Given the description of an element on the screen output the (x, y) to click on. 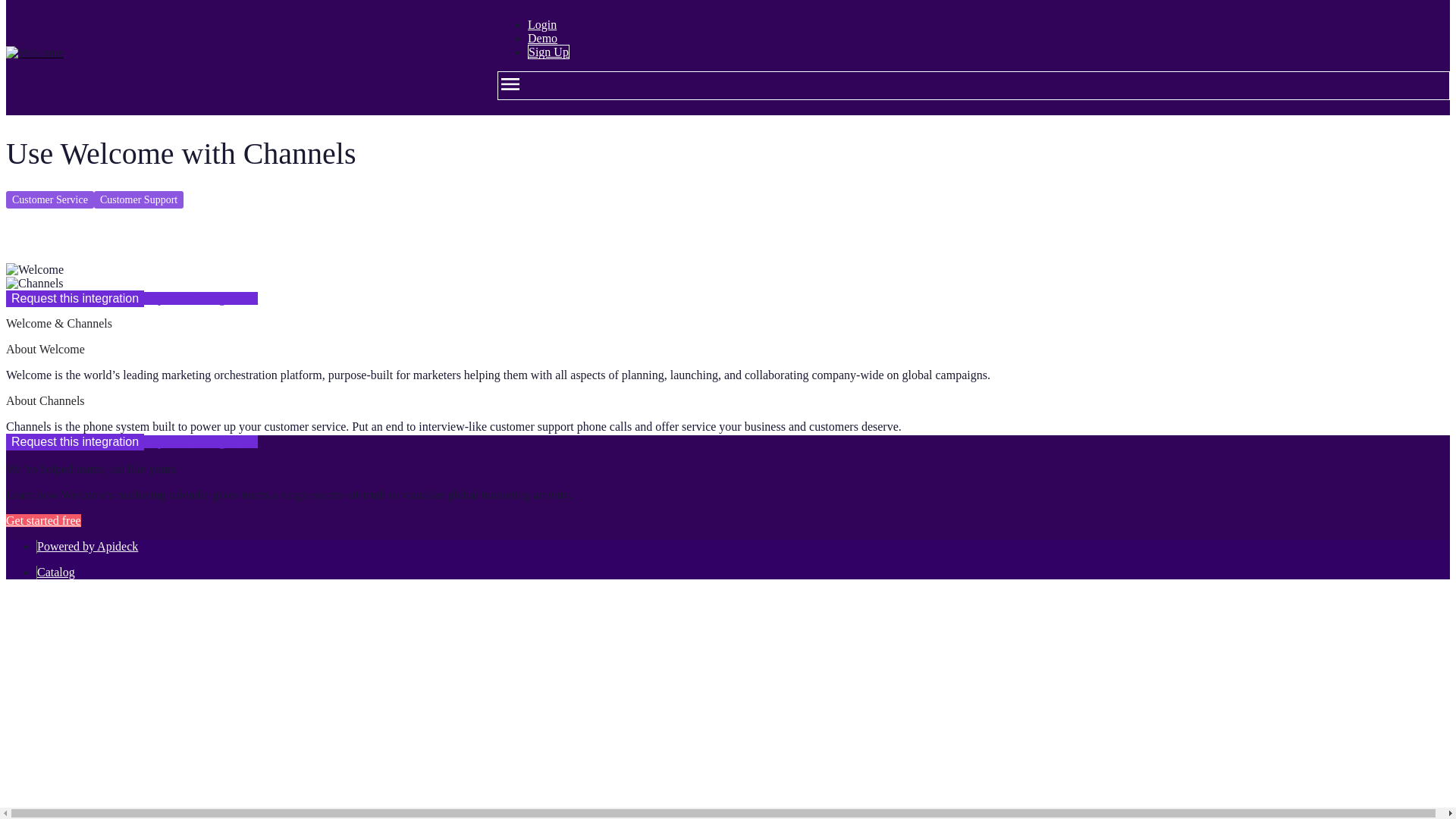
Sign Up (548, 51)
Request this integration (74, 298)
Catalog (56, 571)
Welcome (34, 52)
Demo (542, 38)
Get started free (43, 520)
Welcome (34, 269)
Powered by Apideck (87, 545)
Explore all integrations (200, 297)
Request this integration (74, 442)
